Given the description of an element on the screen output the (x, y) to click on. 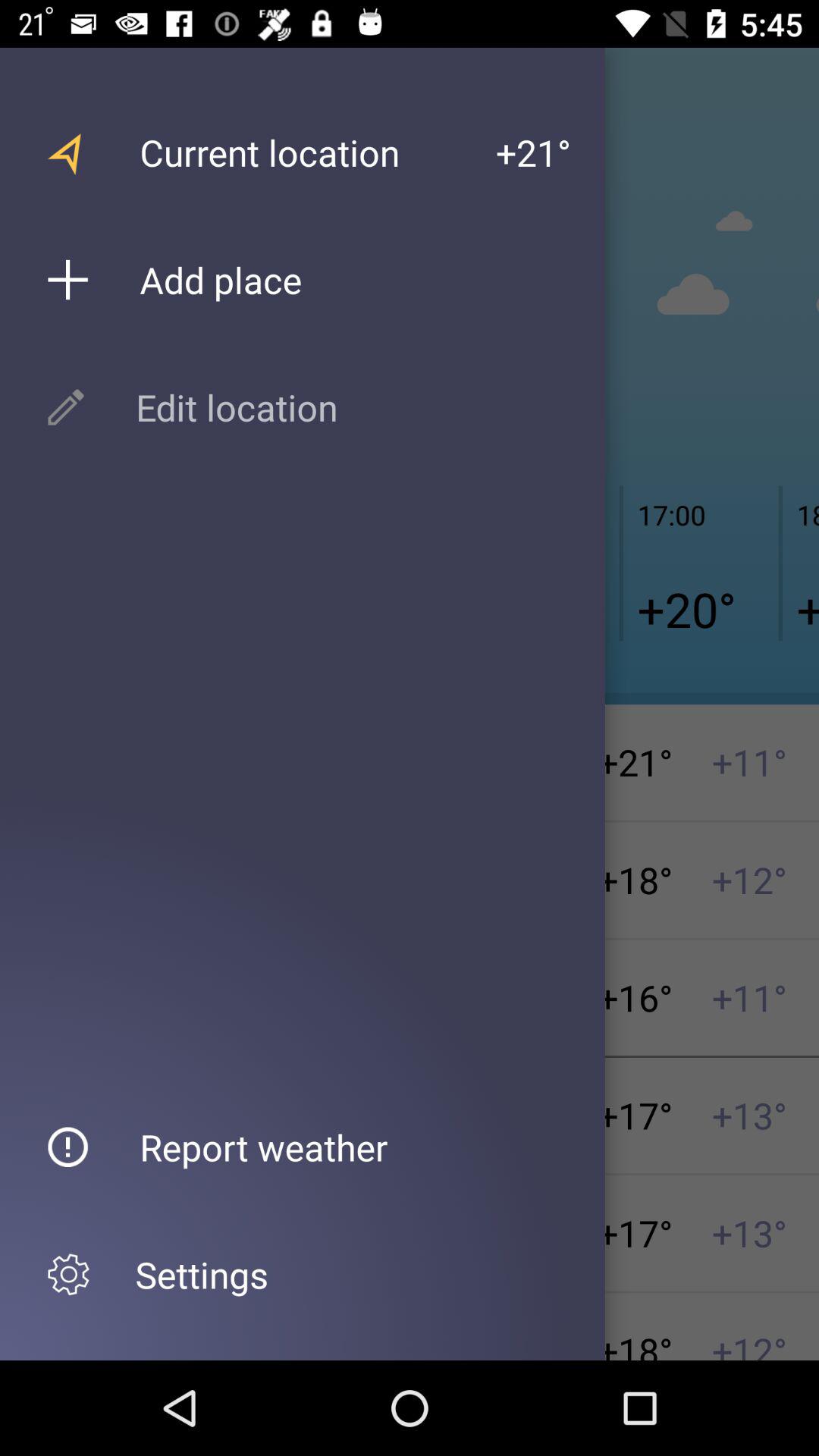
click on the pen icon (66, 407)
